Given the description of an element on the screen output the (x, y) to click on. 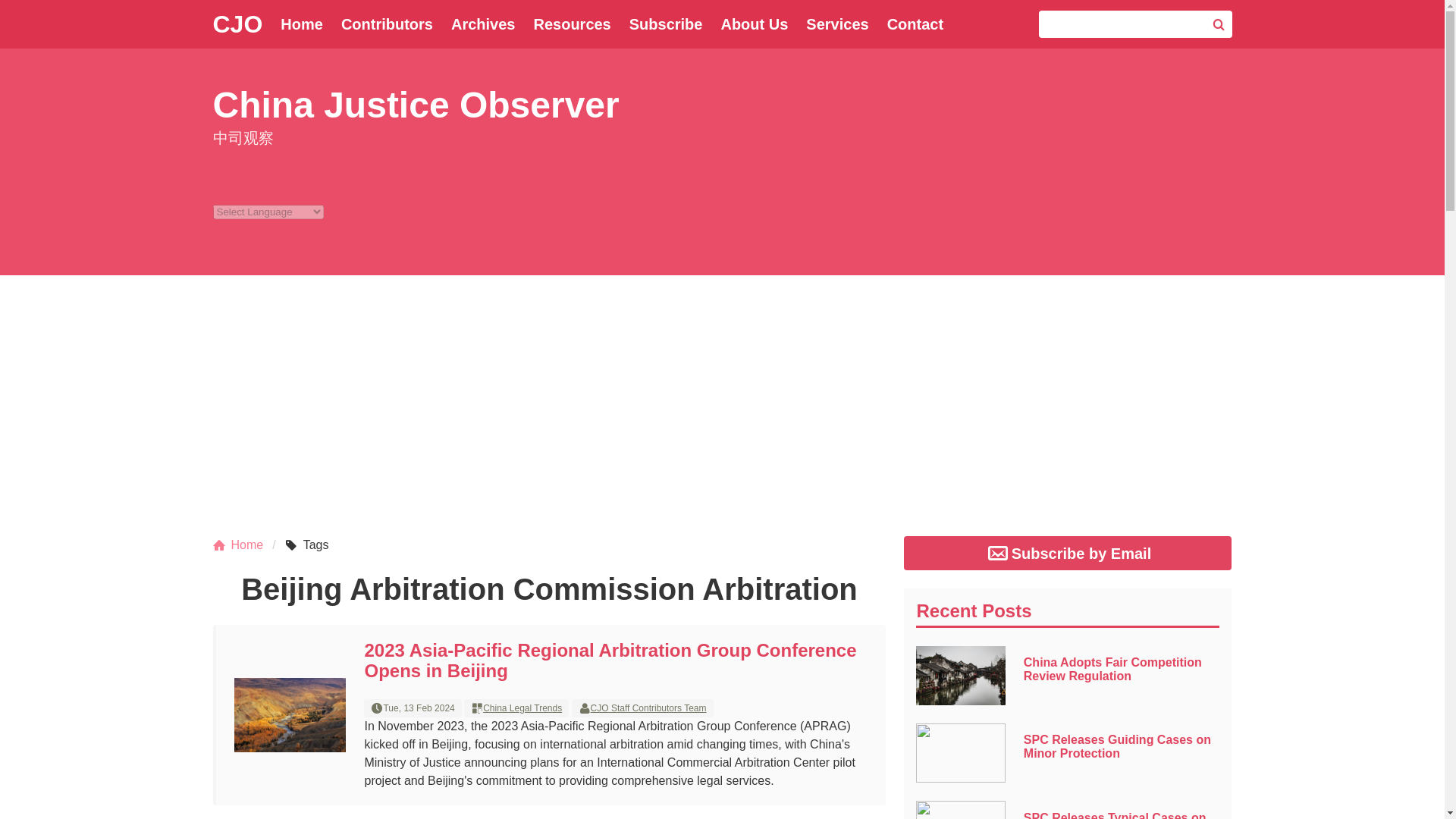
Contributors (386, 24)
About Us (753, 24)
Subscribe (665, 24)
CJO (236, 24)
Services (836, 24)
About Us (753, 24)
Resources (572, 24)
CJO Staff Contributors Team (648, 707)
Home (242, 545)
